Given the description of an element on the screen output the (x, y) to click on. 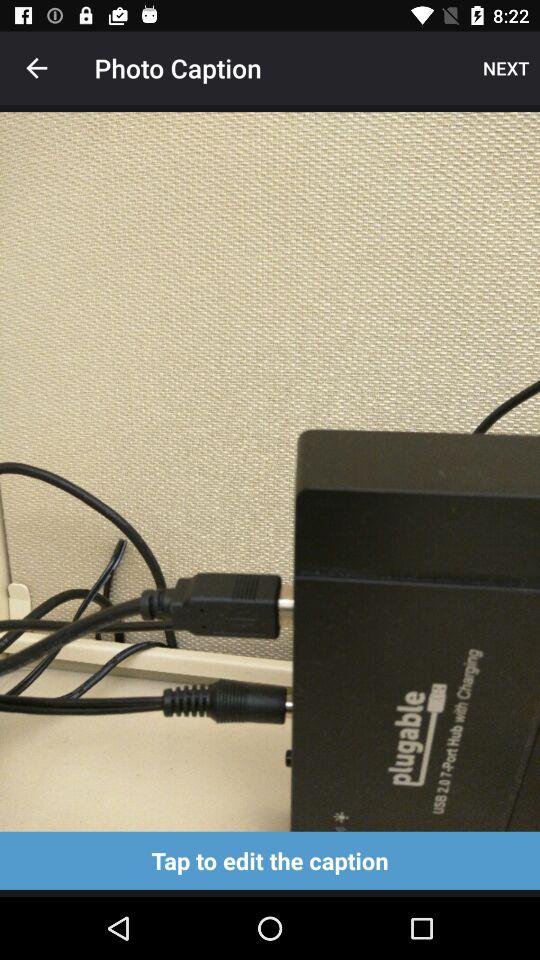
edit the photo 's caption (270, 860)
